Given the description of an element on the screen output the (x, y) to click on. 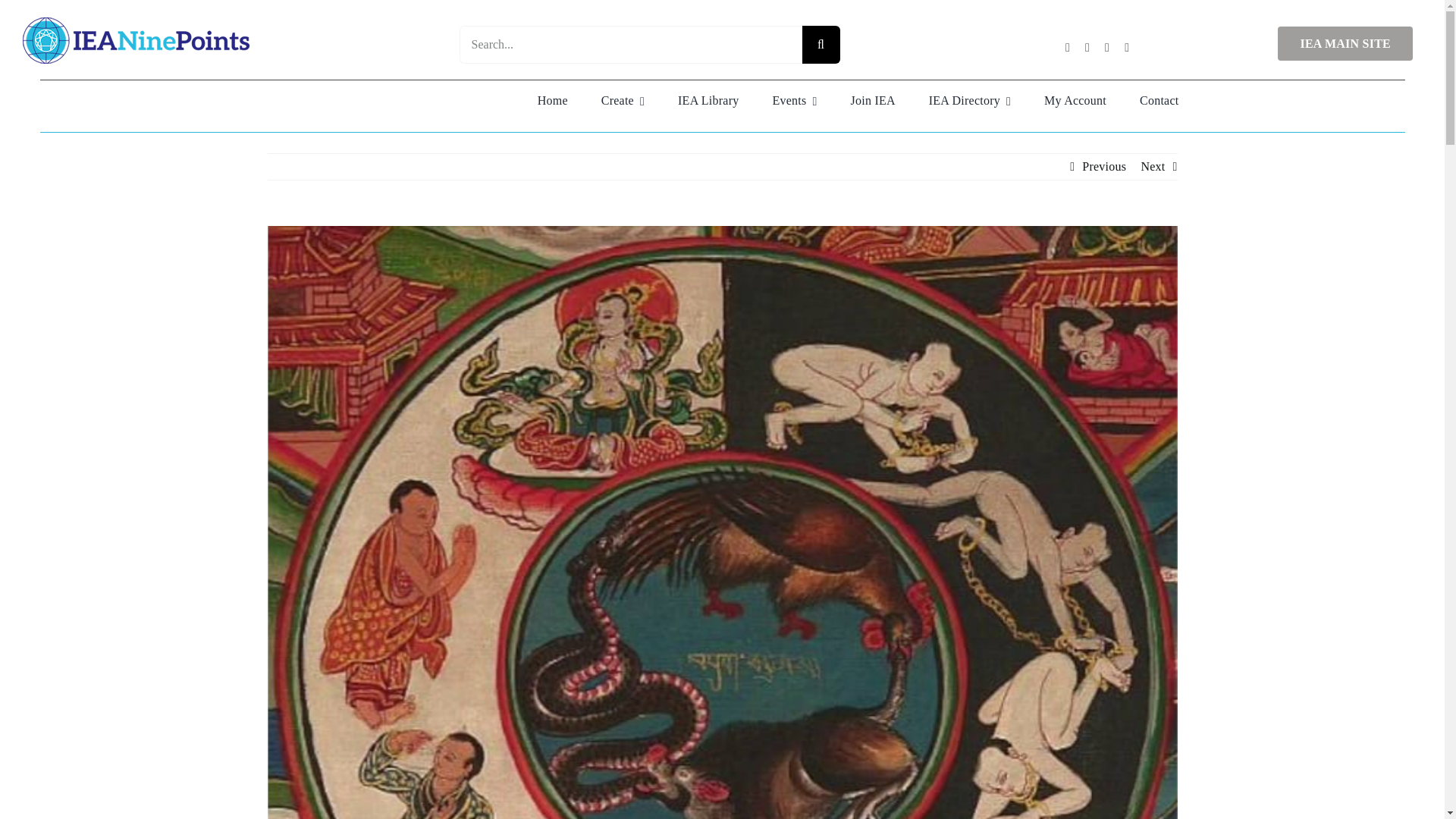
Home (553, 100)
IEA Library (708, 100)
IEA Directory (969, 100)
IEA MAIN SITE (1345, 43)
Join IEA (873, 100)
Create (623, 100)
Events (793, 100)
